Given the description of an element on the screen output the (x, y) to click on. 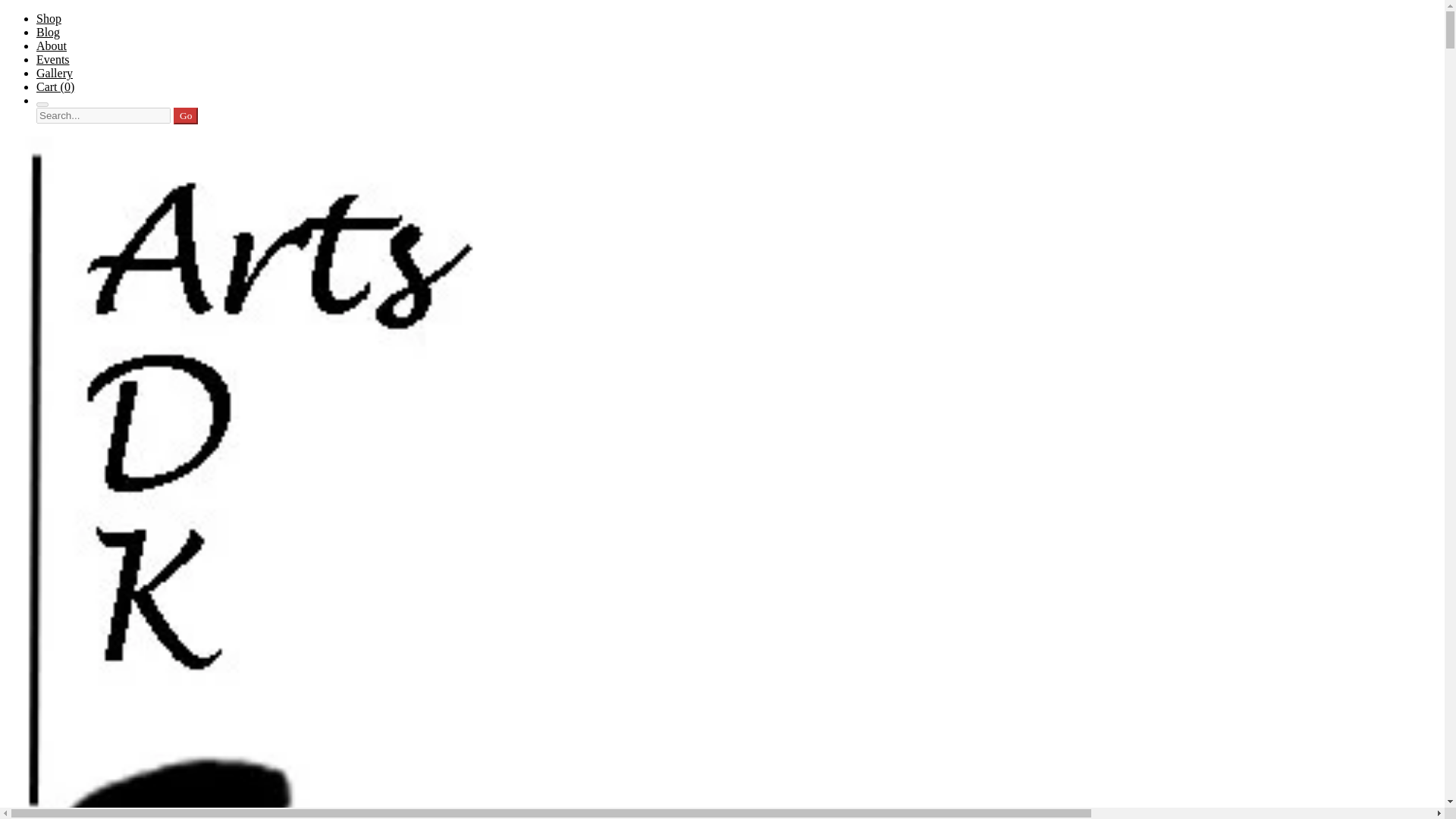
Go (185, 115)
Blog (47, 31)
About (51, 45)
Shop (48, 18)
Go (185, 115)
Events (52, 59)
Gallery (54, 72)
